Given the description of an element on the screen output the (x, y) to click on. 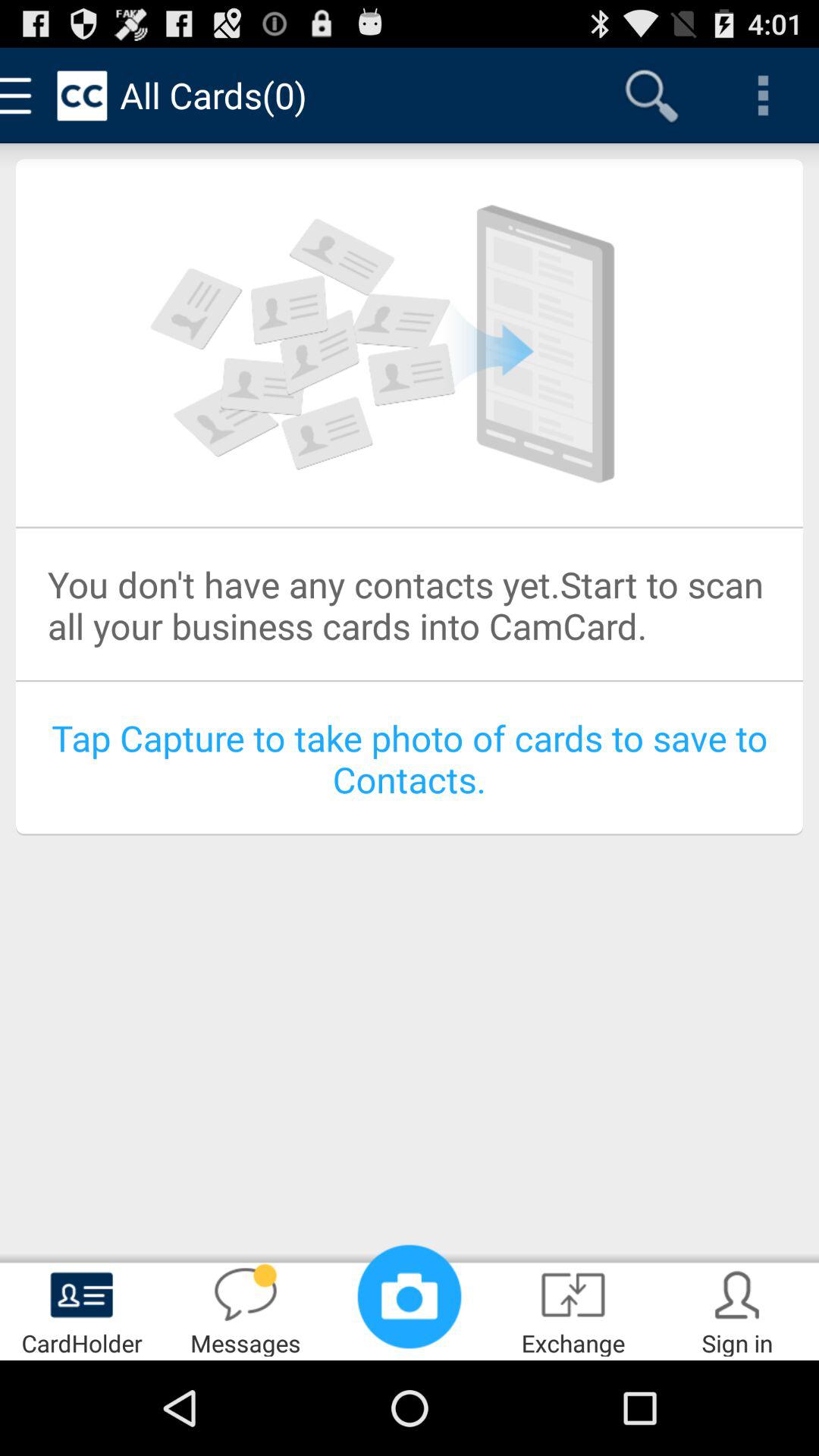
turn on the item to the right of cardholder icon (245, 1309)
